Given the description of an element on the screen output the (x, y) to click on. 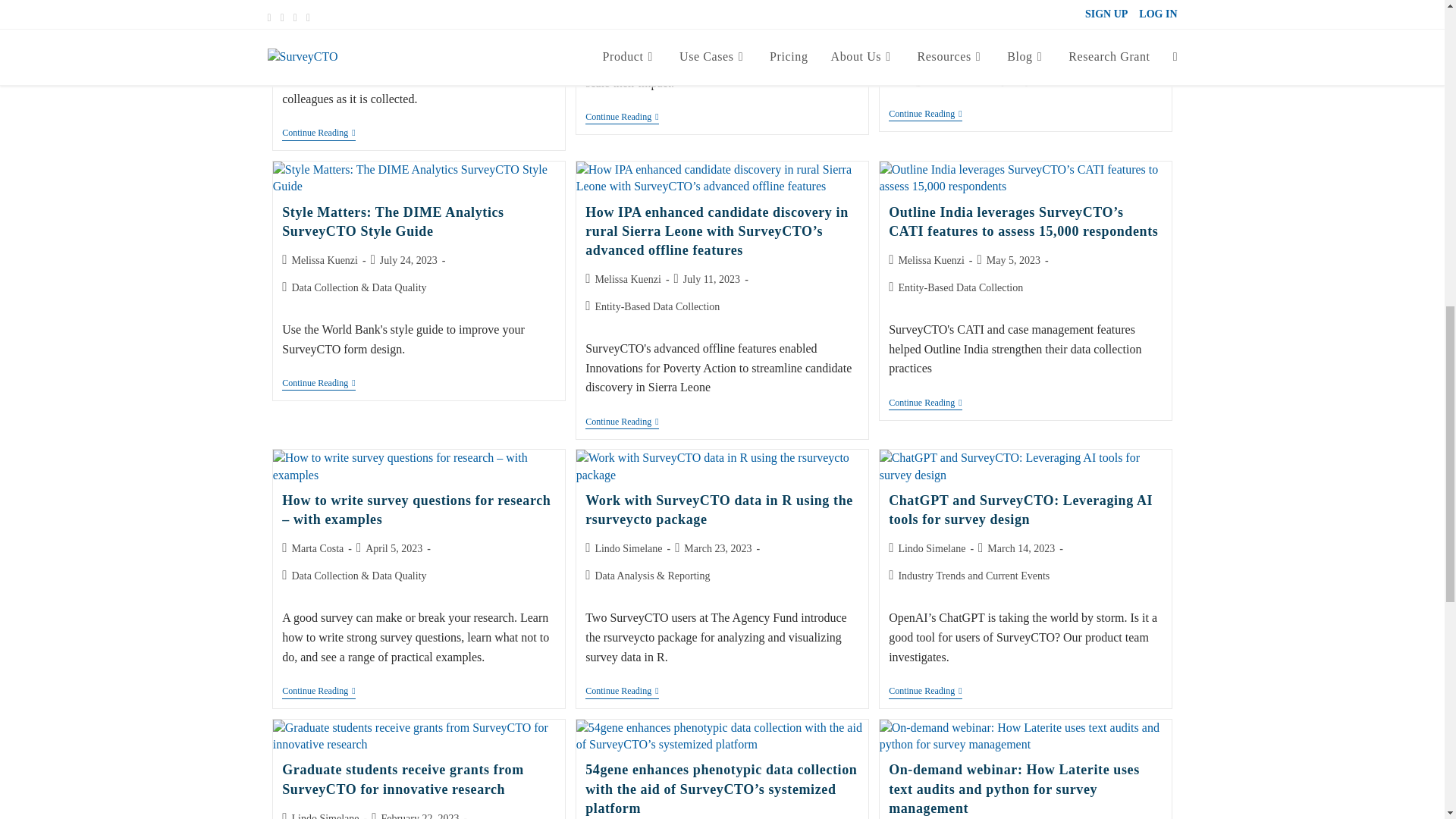
Posts by Melissa Kuenzi (930, 260)
Posts by Lindo Simelane (628, 548)
Posts by Melissa Kuenzi (627, 279)
Posts by Marta Costa (317, 548)
Posts by Lindo Simelane (931, 548)
Posts by Melissa Kuenzi (323, 260)
Posts by Lindo Simelane (324, 816)
